Given the description of an element on the screen output the (x, y) to click on. 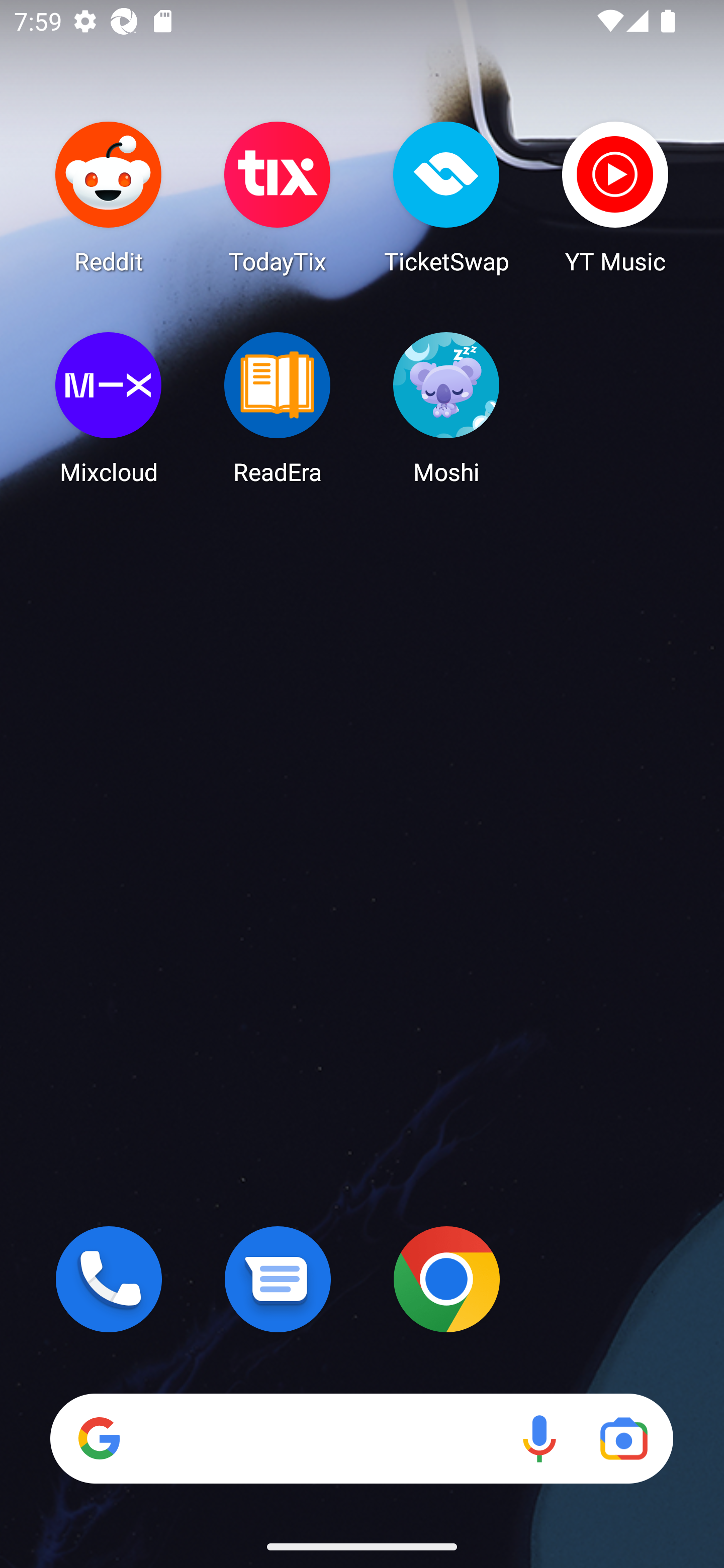
Reddit (108, 196)
TodayTix (277, 196)
TicketSwap (445, 196)
YT Music (615, 196)
Mixcloud (108, 407)
ReadEra (277, 407)
Moshi (445, 407)
Phone (108, 1279)
Messages (277, 1279)
Chrome (446, 1279)
Voice search (539, 1438)
Google Lens (623, 1438)
